Given the description of an element on the screen output the (x, y) to click on. 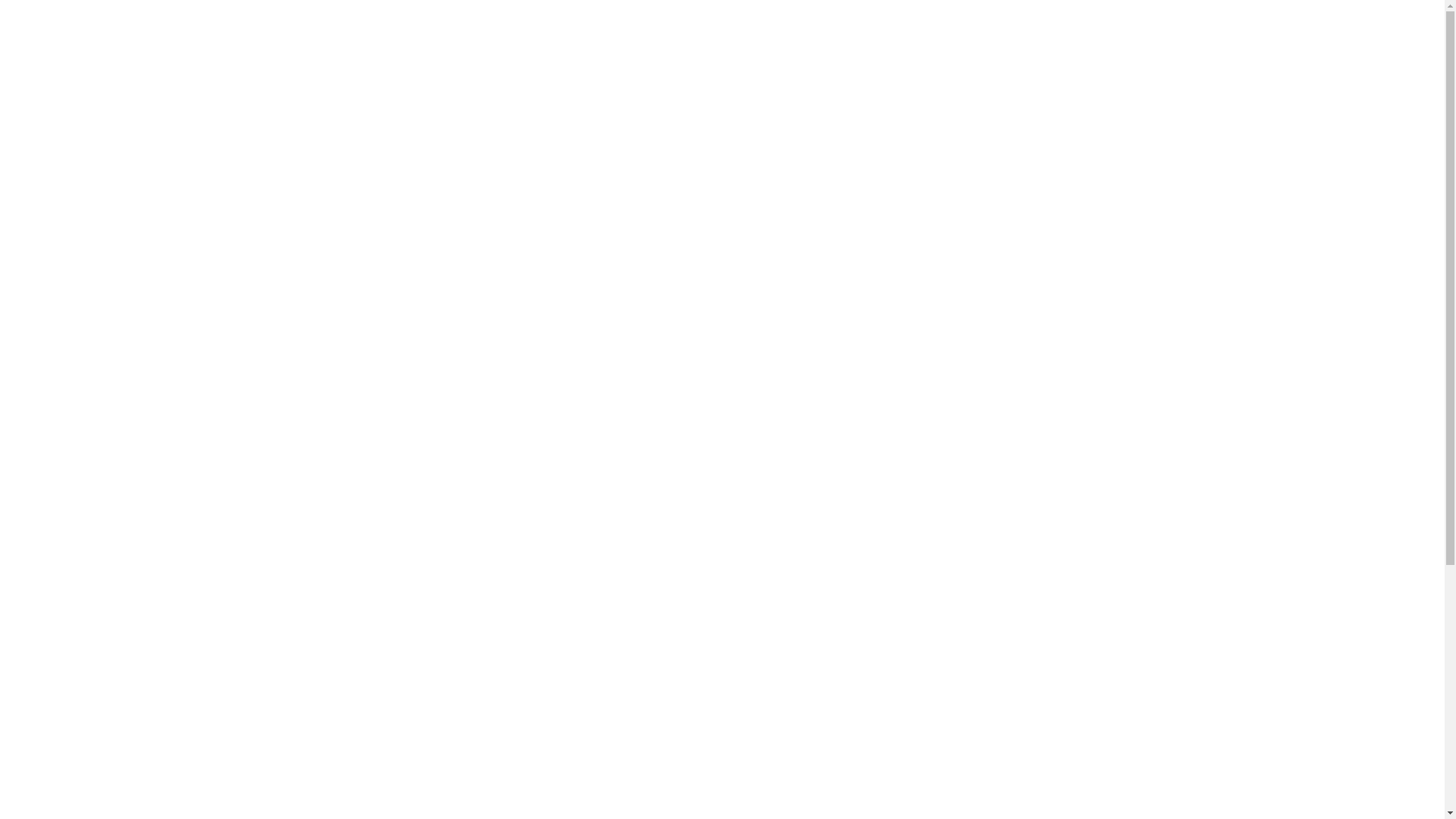
AITC British Columbia Resources Site Element type: hover (376, 42)
